Given the description of an element on the screen output the (x, y) to click on. 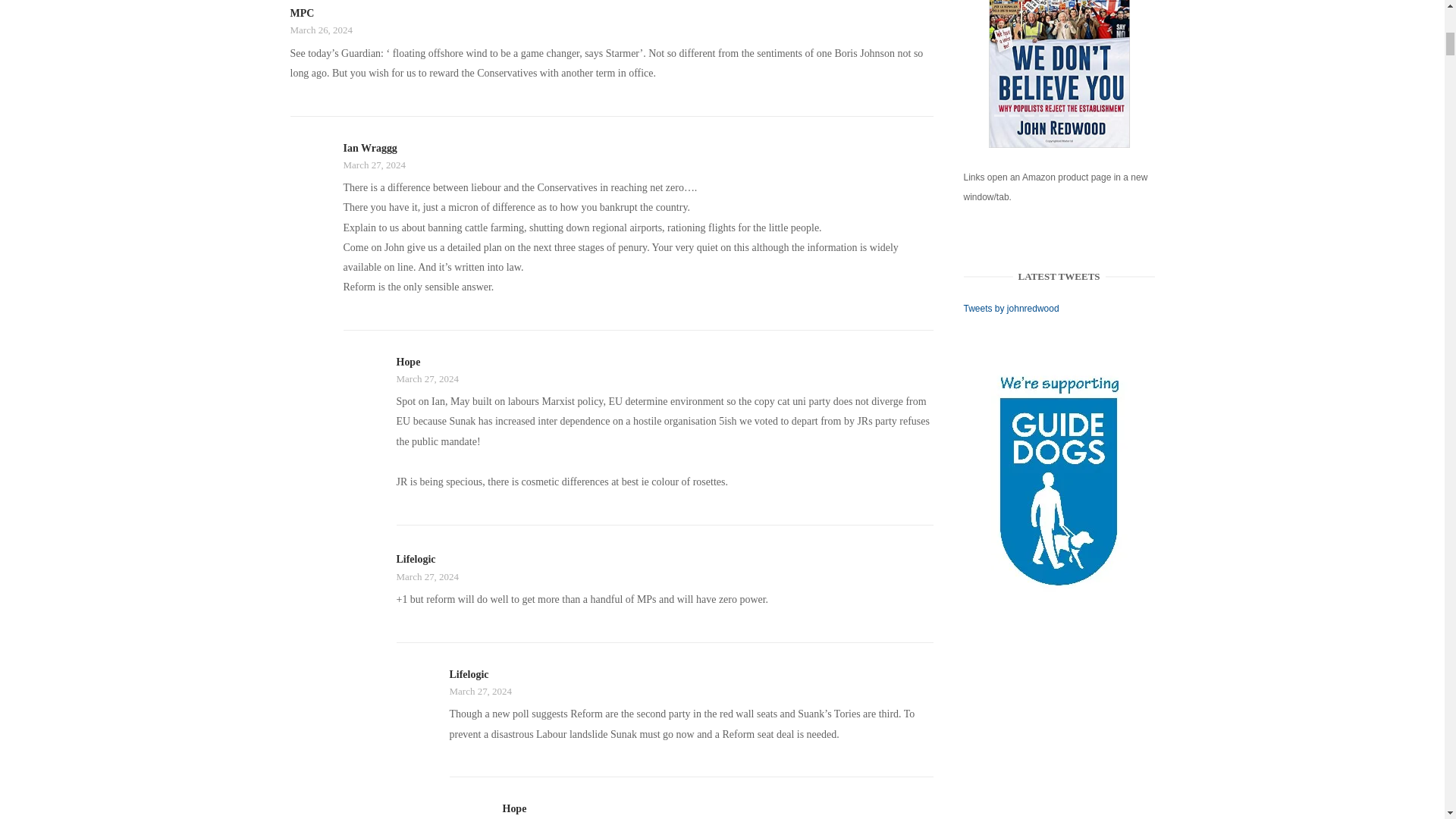
Tweets by johnredwood (1011, 308)
Government energy policy (1058, 74)
